Given the description of an element on the screen output the (x, y) to click on. 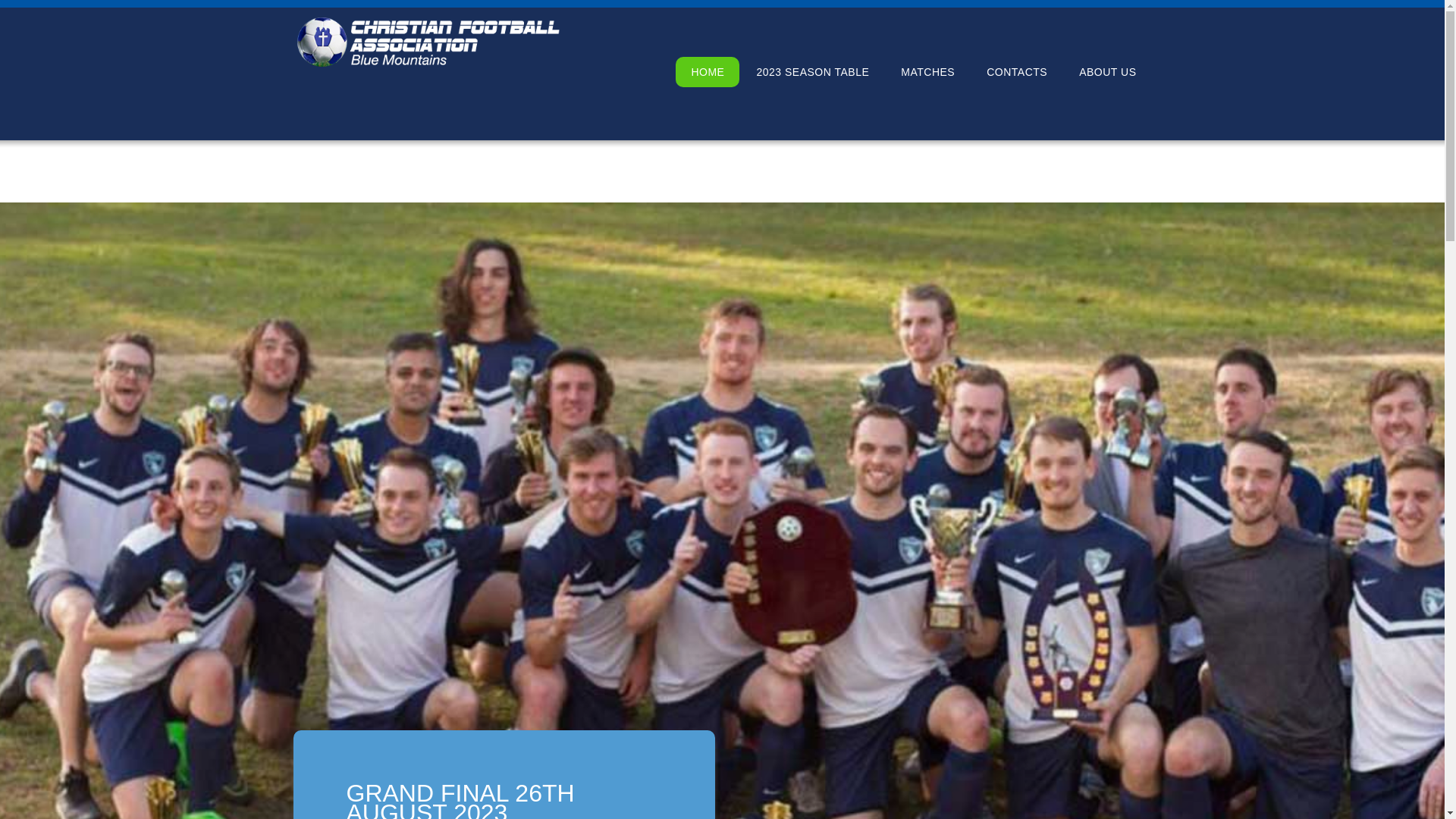
ABOUT US Element type: text (1107, 70)
MATCHES Element type: text (927, 70)
2023 SEASON TABLE Element type: text (812, 70)
CONTACTS Element type: text (1016, 70)
HOME Element type: text (707, 70)
